Given the description of an element on the screen output the (x, y) to click on. 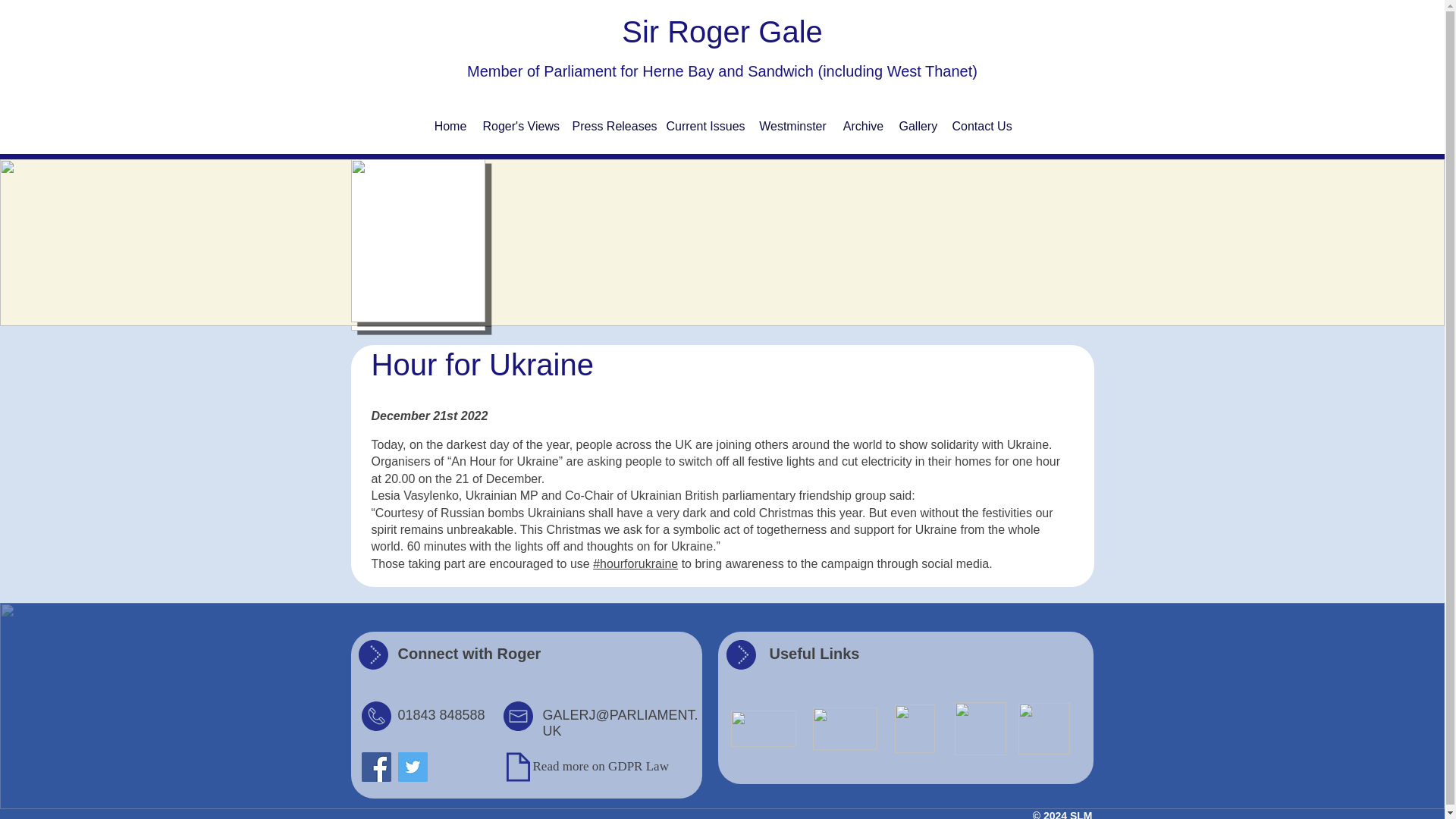
Roger's Views (519, 126)
Contact Us (981, 126)
Westminster (793, 126)
Home (451, 126)
Current Issues (703, 126)
Press Releases (611, 126)
Archive (863, 126)
Gallery (917, 126)
Read more on GDPR Law (600, 766)
